Given the description of an element on the screen output the (x, y) to click on. 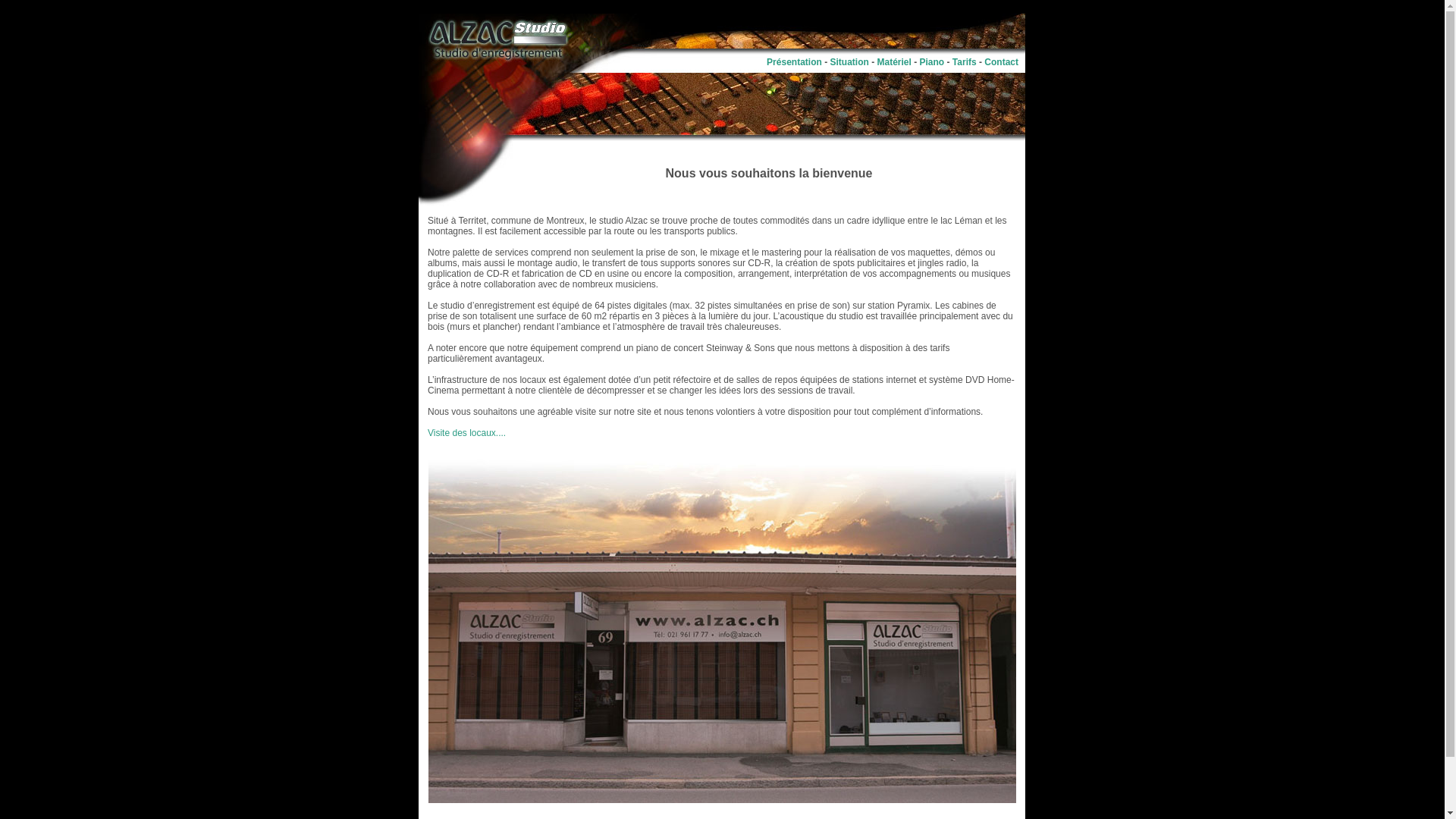
Piano Element type: text (931, 61)
Contact Element type: text (1001, 61)
Visite des locaux.... Element type: text (466, 432)
Situation Element type: text (848, 61)
Tarifs Element type: text (964, 61)
